Given the description of an element on the screen output the (x, y) to click on. 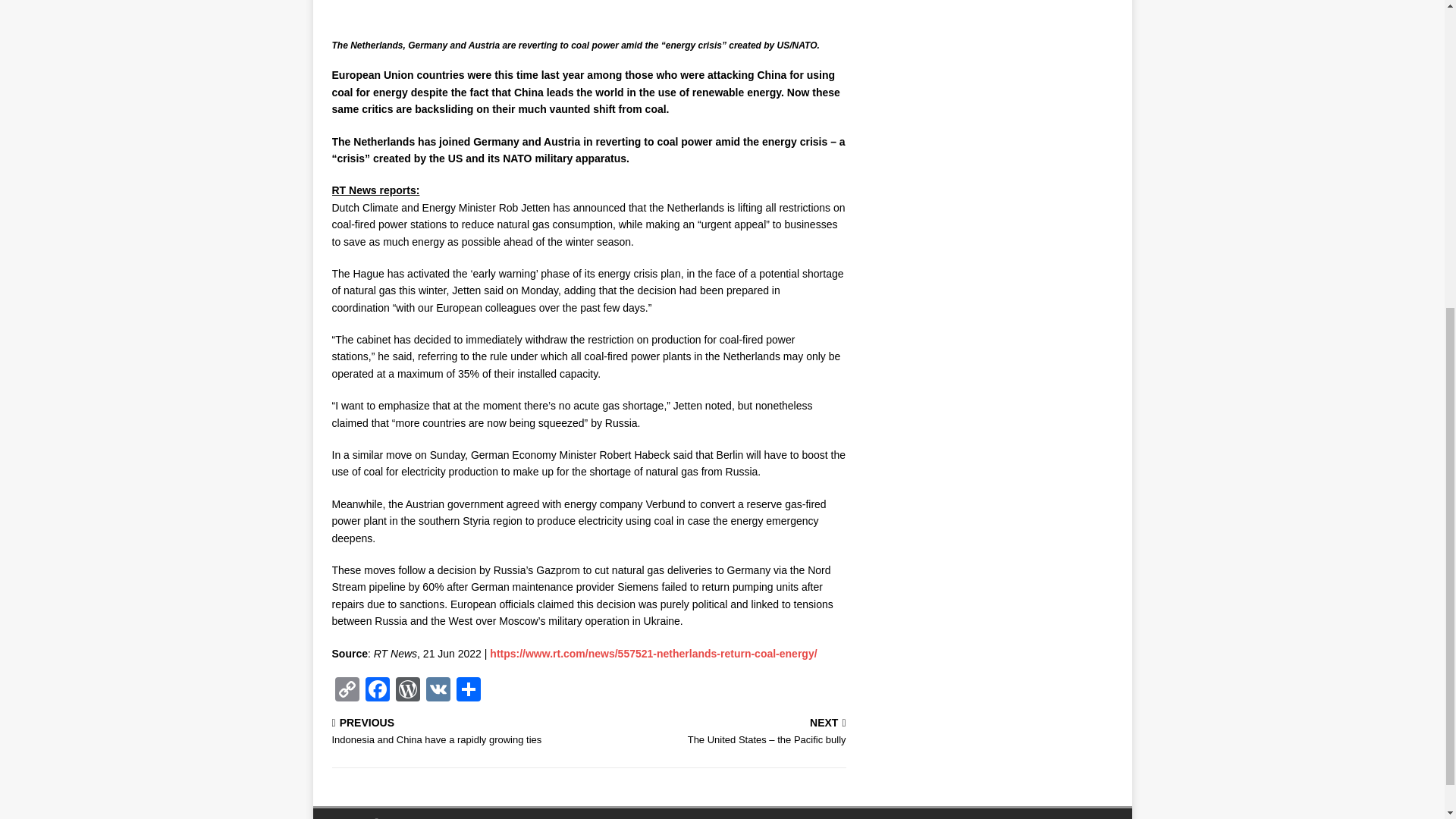
Facebook (377, 691)
Copy Link (346, 691)
Facebook (377, 691)
VK (437, 691)
VK (457, 732)
Copy Link (437, 691)
WordPress (346, 691)
WordPress (408, 691)
